Given the description of an element on the screen output the (x, y) to click on. 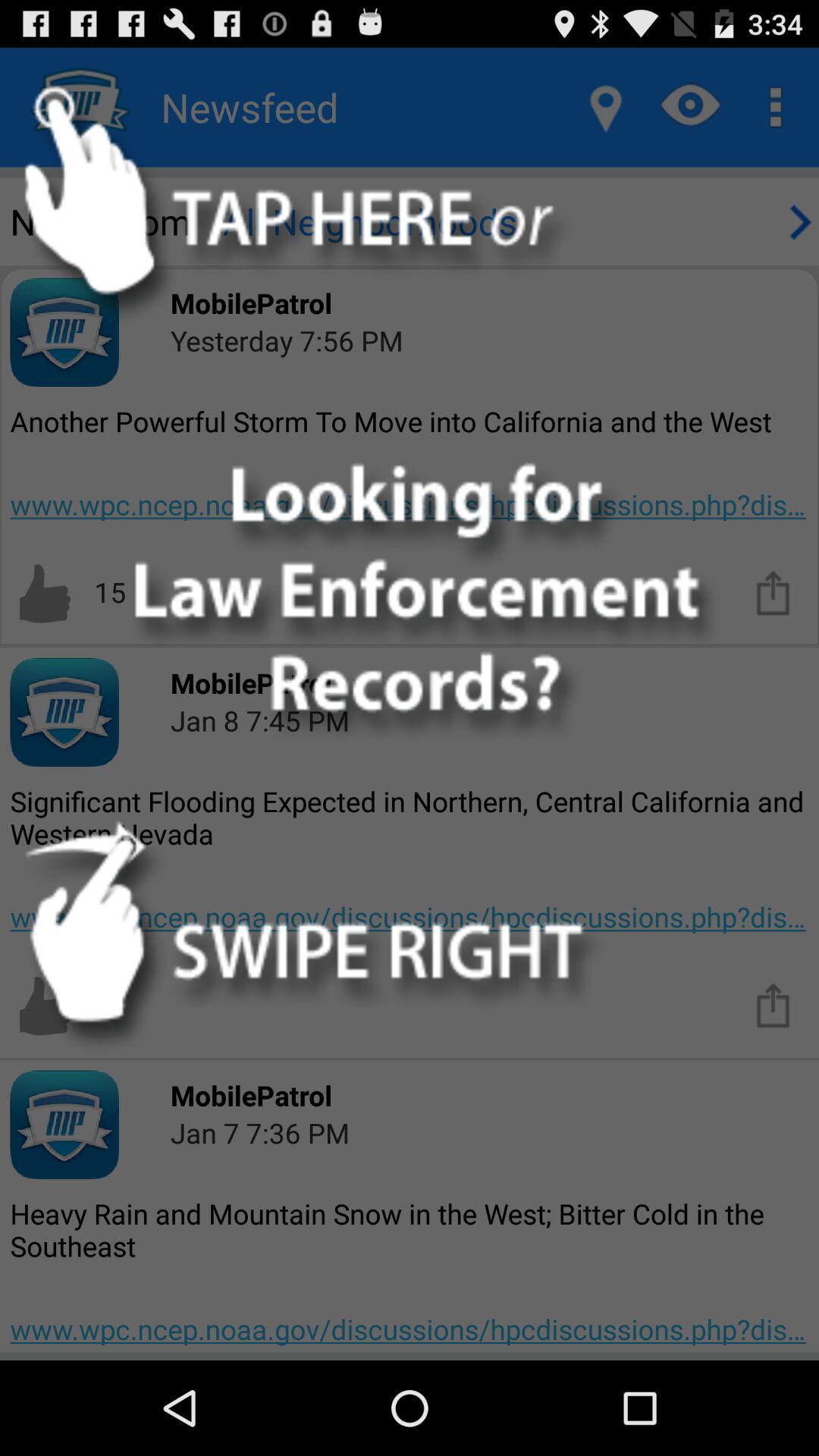
share the article (774, 1004)
